Given the description of an element on the screen output the (x, y) to click on. 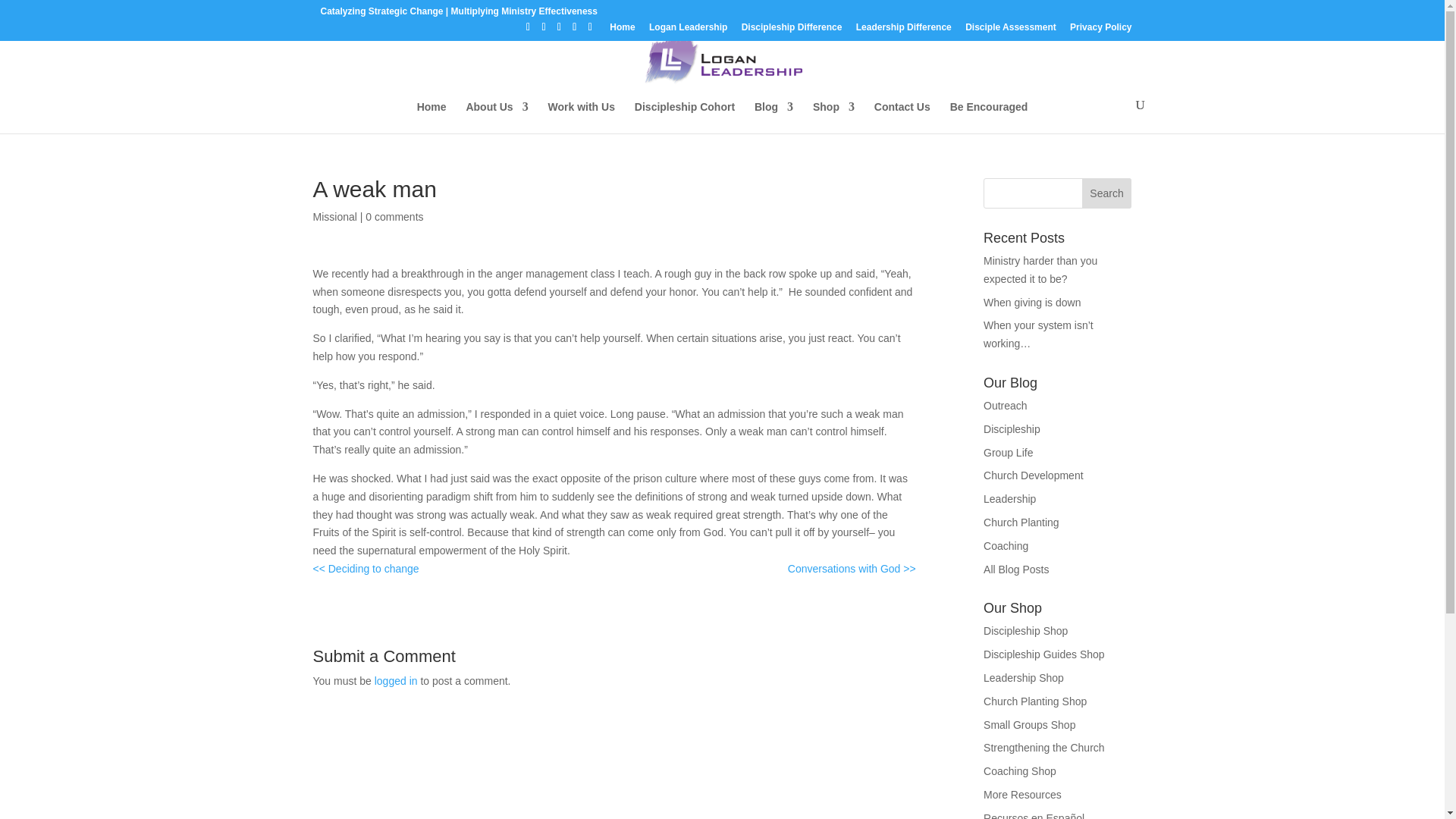
Discipleship Difference (792, 30)
About Us (496, 117)
Discipleship Cohort (684, 117)
Work with Us (581, 117)
Blog (773, 117)
Logan Leadership (687, 30)
Home (622, 30)
Home (431, 117)
Search (1106, 193)
Disciple Assessment (1011, 30)
